Given the description of an element on the screen output the (x, y) to click on. 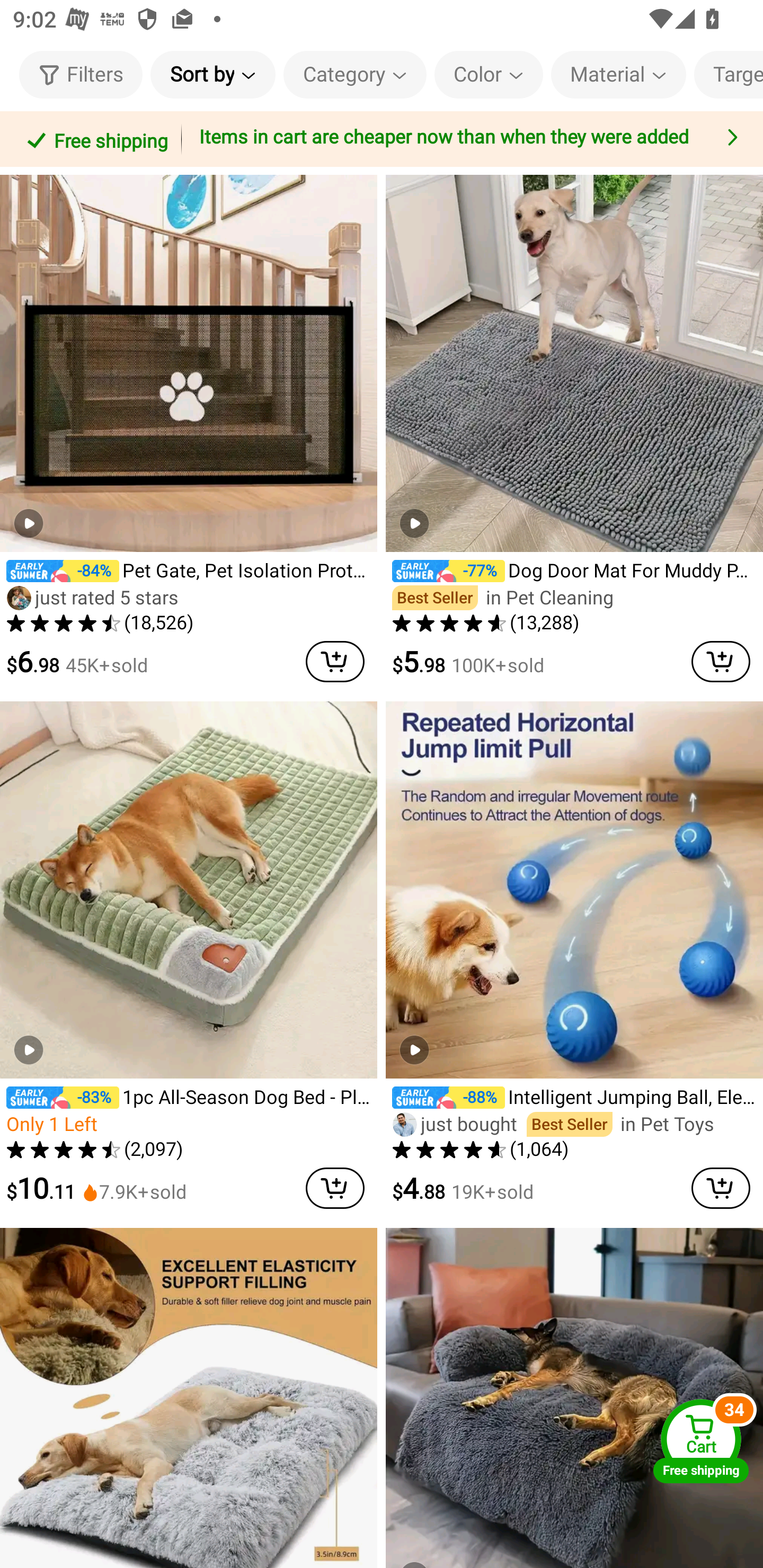
Filters (80, 74)
Sort by (212, 74)
Category (354, 74)
Color (488, 74)
Material (617, 74)
Target Species (728, 74)
 Free shipping (93, 138)
cart delete (334, 661)
cart delete (720, 661)
Cart Free shipping Cart (701, 1440)
